Given the description of an element on the screen output the (x, y) to click on. 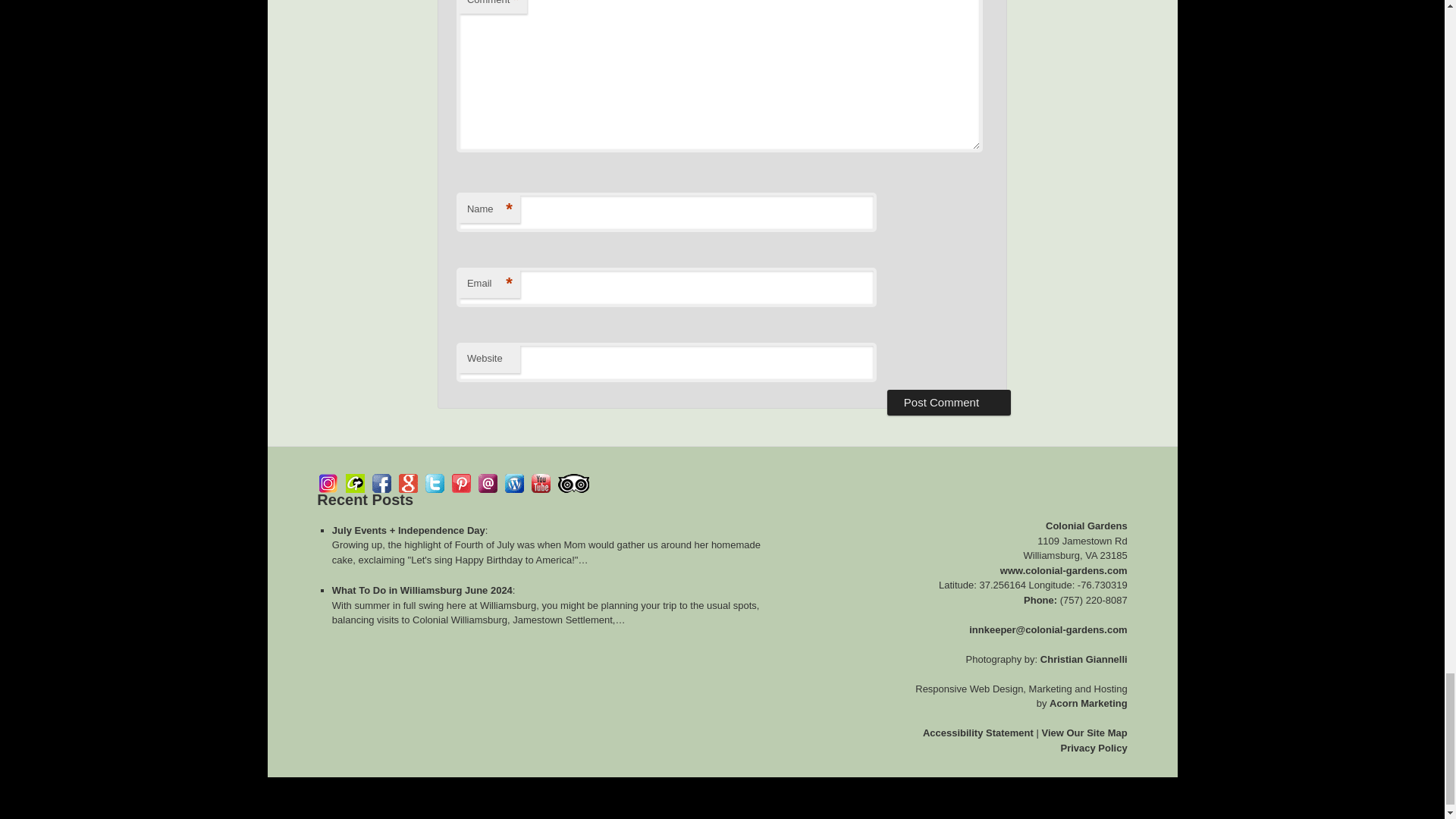
Post Comment (948, 402)
Pin us on Pinterest (460, 483)
View our YouTube Channel (540, 483)
Follow us on Twitter (434, 483)
Contact Us (488, 483)
Read our Google reviews (407, 483)
Read our Blog (514, 483)
Read Reviews on Tripadviser (573, 483)
